Given the description of an element on the screen output the (x, y) to click on. 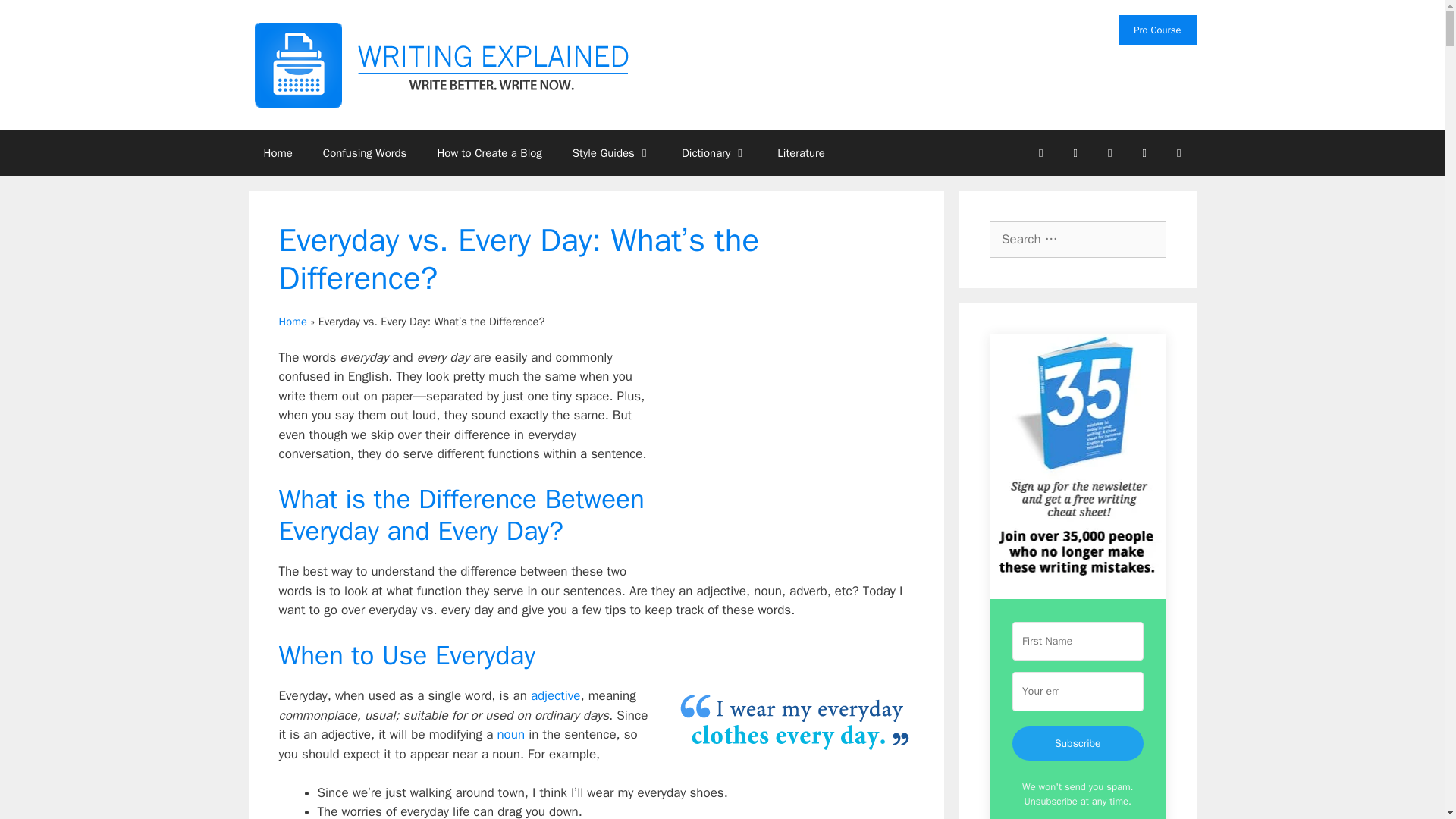
Confusing Words (364, 153)
Search (35, 18)
adjective (555, 695)
Style Guides (611, 153)
noun (510, 734)
Subscribe (1076, 743)
Literature (800, 153)
Pro Course (1156, 30)
Home (293, 321)
Advertisement (786, 461)
Home (277, 153)
Dictionary (713, 153)
Search for: (1078, 239)
How to Create a Blog (489, 153)
